Given the description of an element on the screen output the (x, y) to click on. 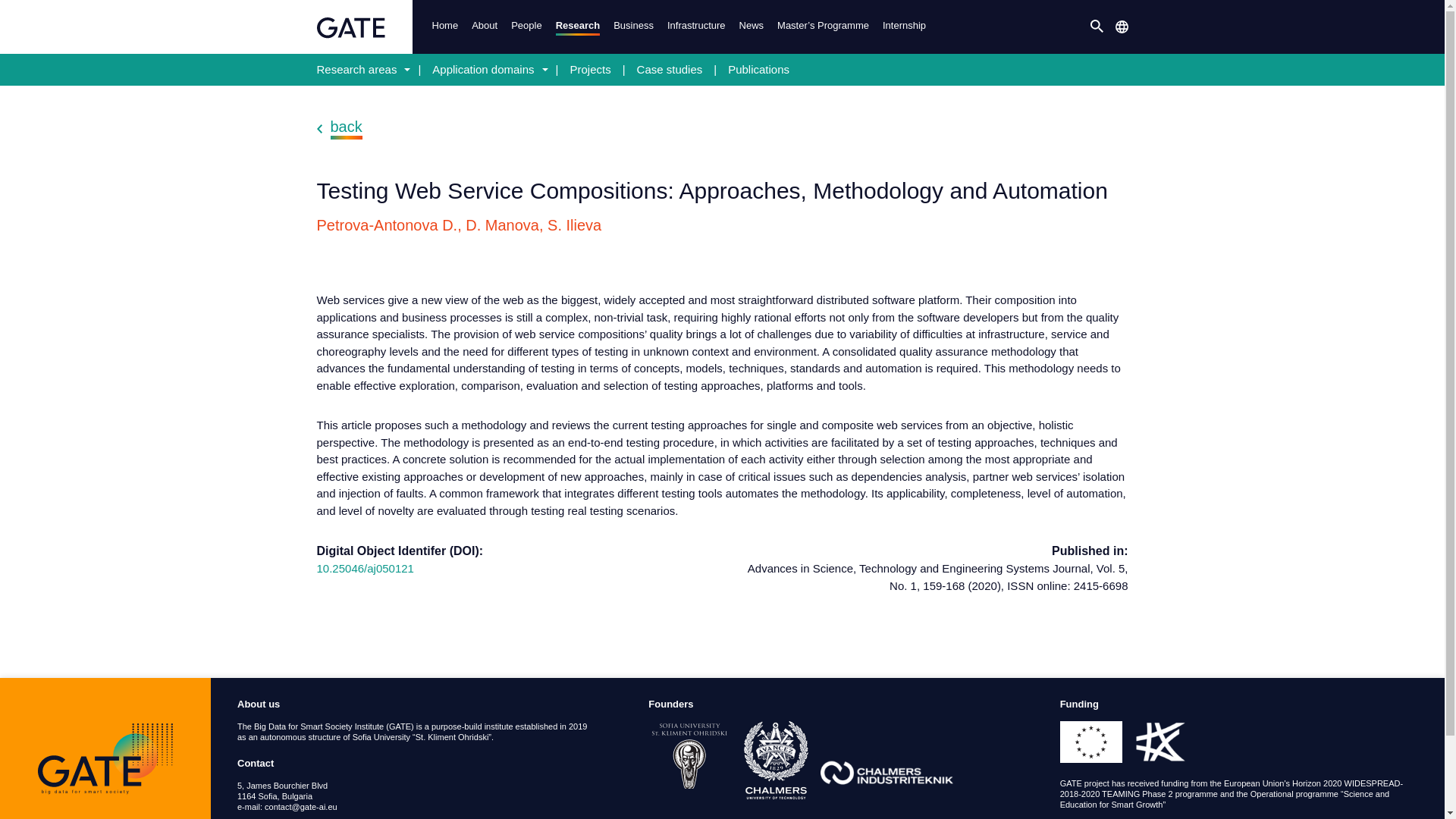
About (483, 26)
Research (577, 25)
Home (444, 26)
About (483, 26)
Infrastructure (695, 26)
Research (577, 25)
Business (632, 26)
Home (444, 26)
People (525, 26)
People (525, 26)
